Given the description of an element on the screen output the (x, y) to click on. 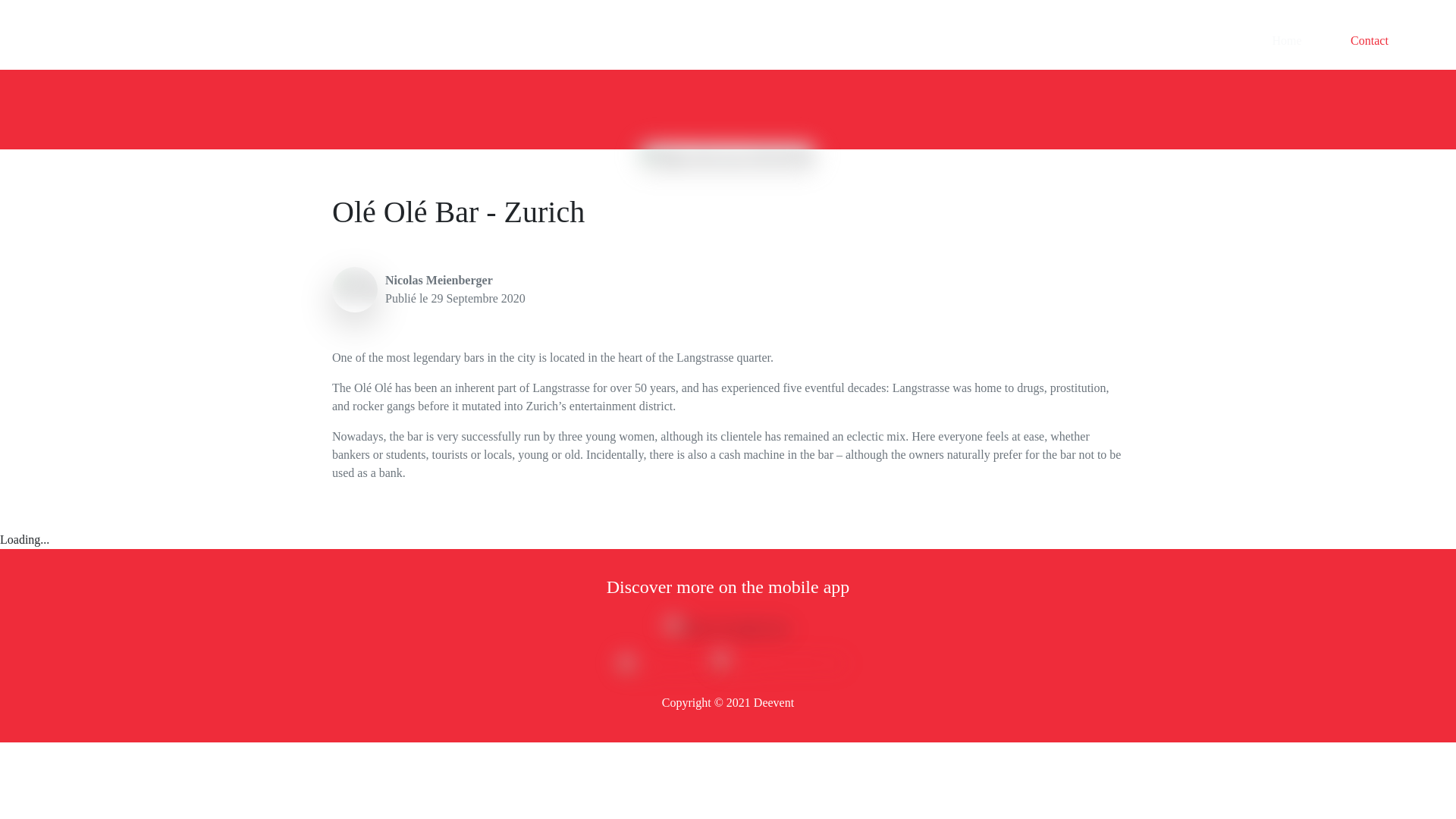
Contact (1369, 40)
Logo deevent.app (71, 40)
Home (1286, 40)
Logo deevent.app (66, 40)
